Given the description of an element on the screen output the (x, y) to click on. 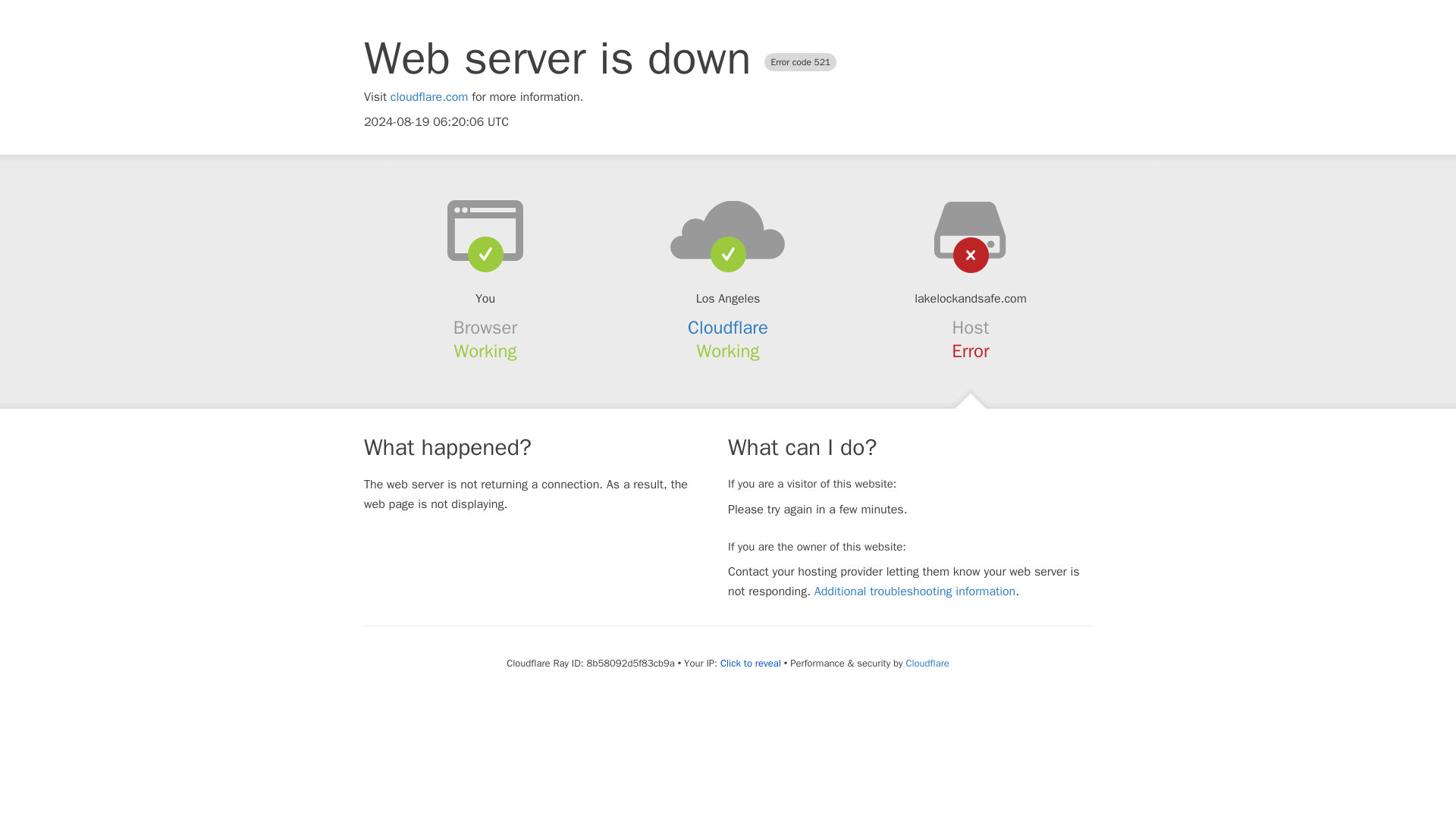
cloudflare.com (429, 96)
Cloudflare (727, 327)
Additional troubleshooting information (913, 590)
Click to reveal (750, 663)
Cloudflare (927, 662)
